Given the description of an element on the screen output the (x, y) to click on. 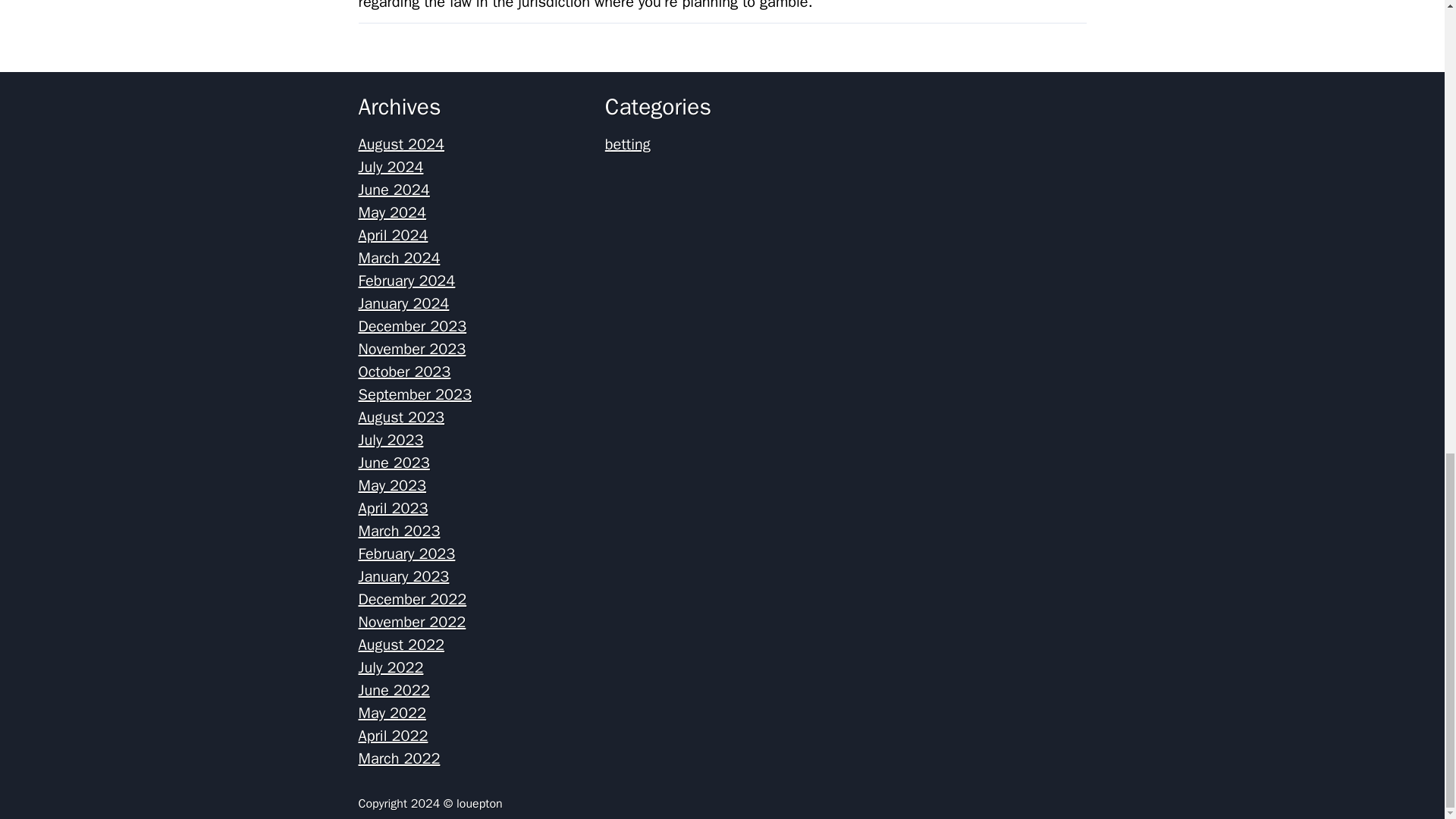
July 2022 (390, 667)
November 2023 (411, 348)
December 2022 (411, 599)
March 2023 (398, 530)
November 2022 (411, 621)
September 2023 (414, 394)
April 2023 (393, 507)
February 2024 (406, 280)
June 2022 (393, 690)
June 2024 (393, 189)
